Given the description of an element on the screen output the (x, y) to click on. 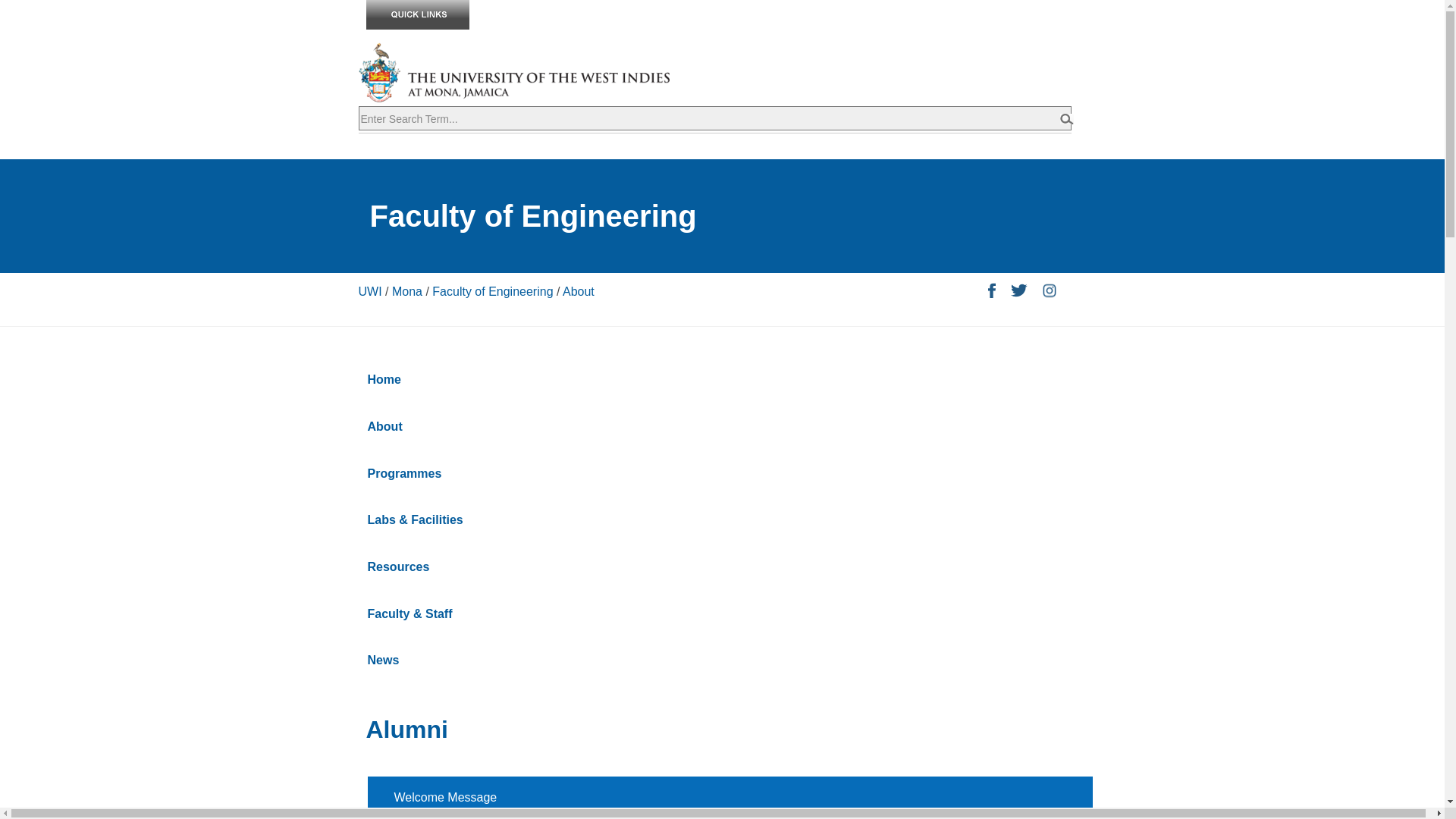
Share on Twitter (1018, 292)
